Given the description of an element on the screen output the (x, y) to click on. 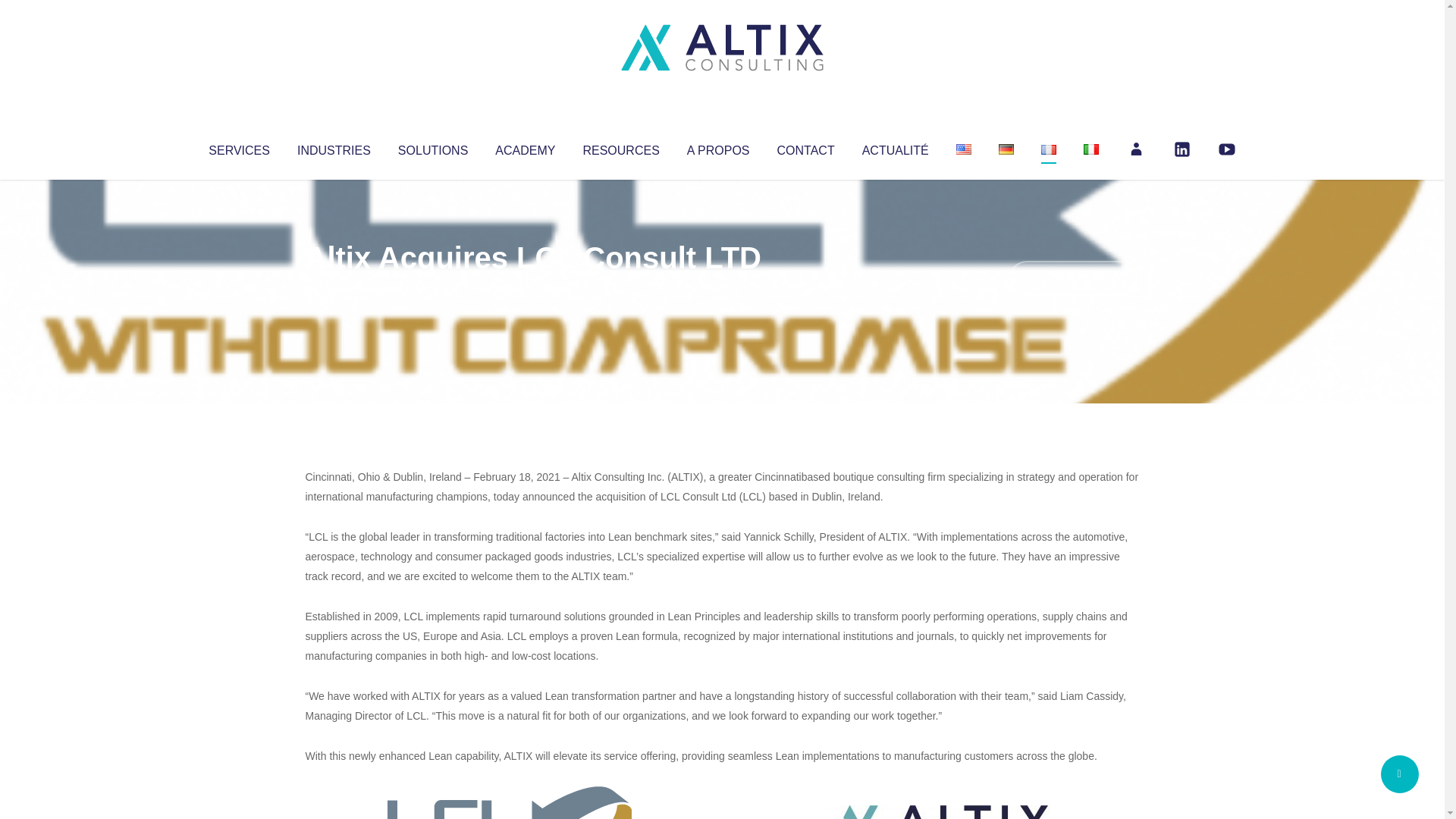
SOLUTIONS (432, 146)
INDUSTRIES (334, 146)
ACADEMY (524, 146)
Articles par Altix (333, 287)
No Comments (1073, 278)
Uncategorized (530, 287)
SERVICES (238, 146)
Altix (333, 287)
A PROPOS (718, 146)
RESOURCES (620, 146)
